Given the description of an element on the screen output the (x, y) to click on. 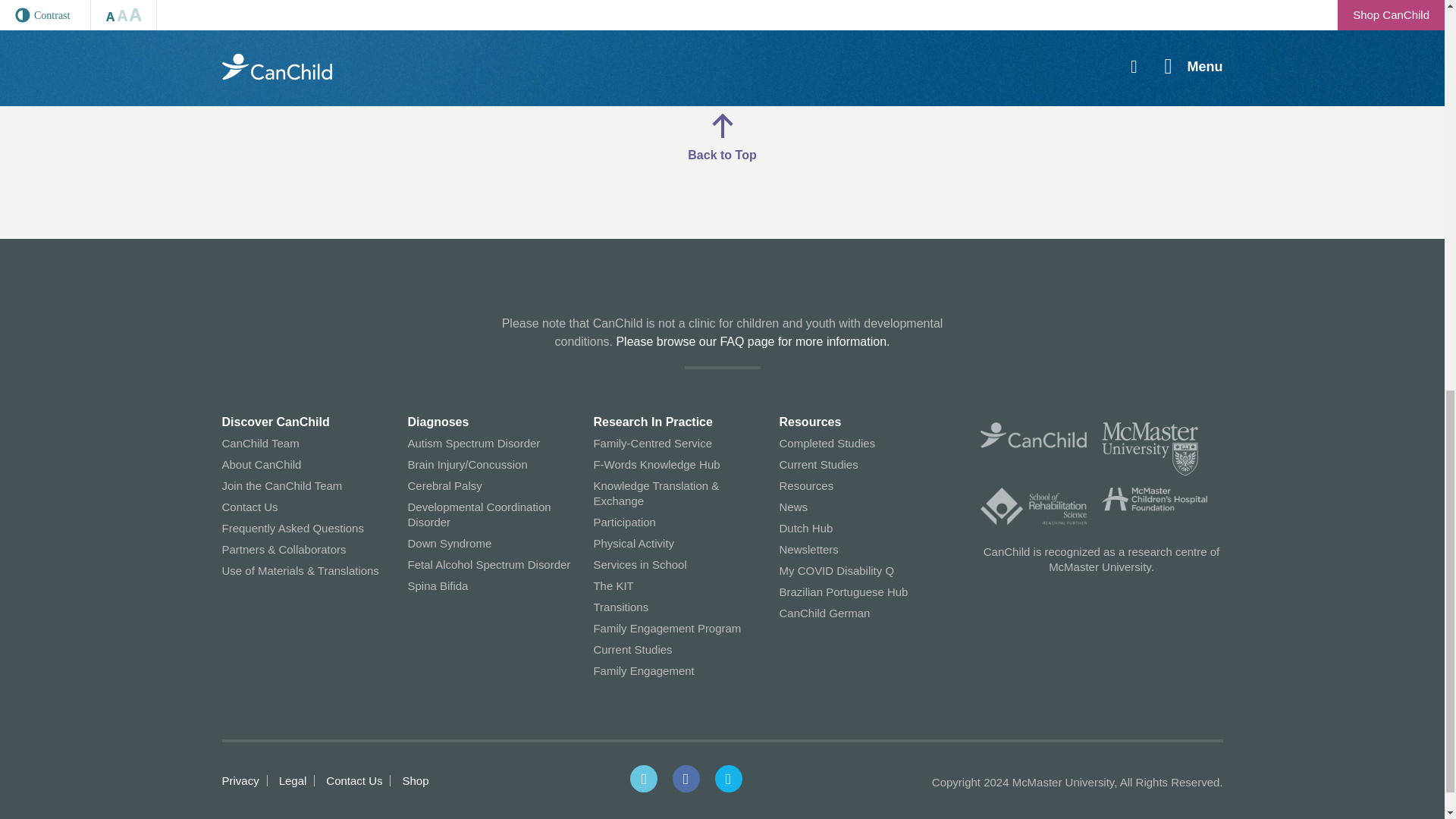
Back to Top (721, 137)
